Given the description of an element on the screen output the (x, y) to click on. 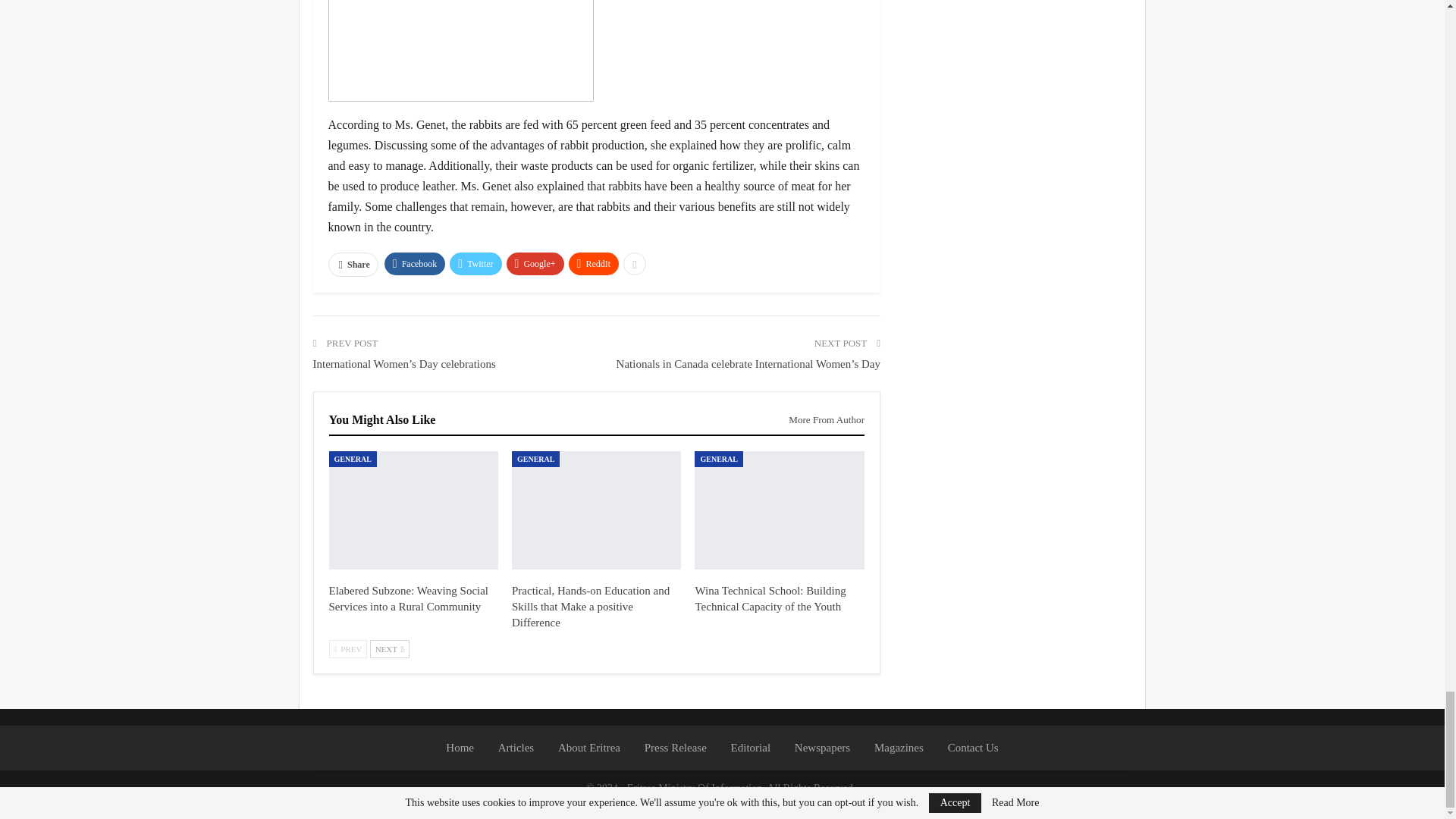
Previous (348, 648)
Next (389, 648)
